Given the description of an element on the screen output the (x, y) to click on. 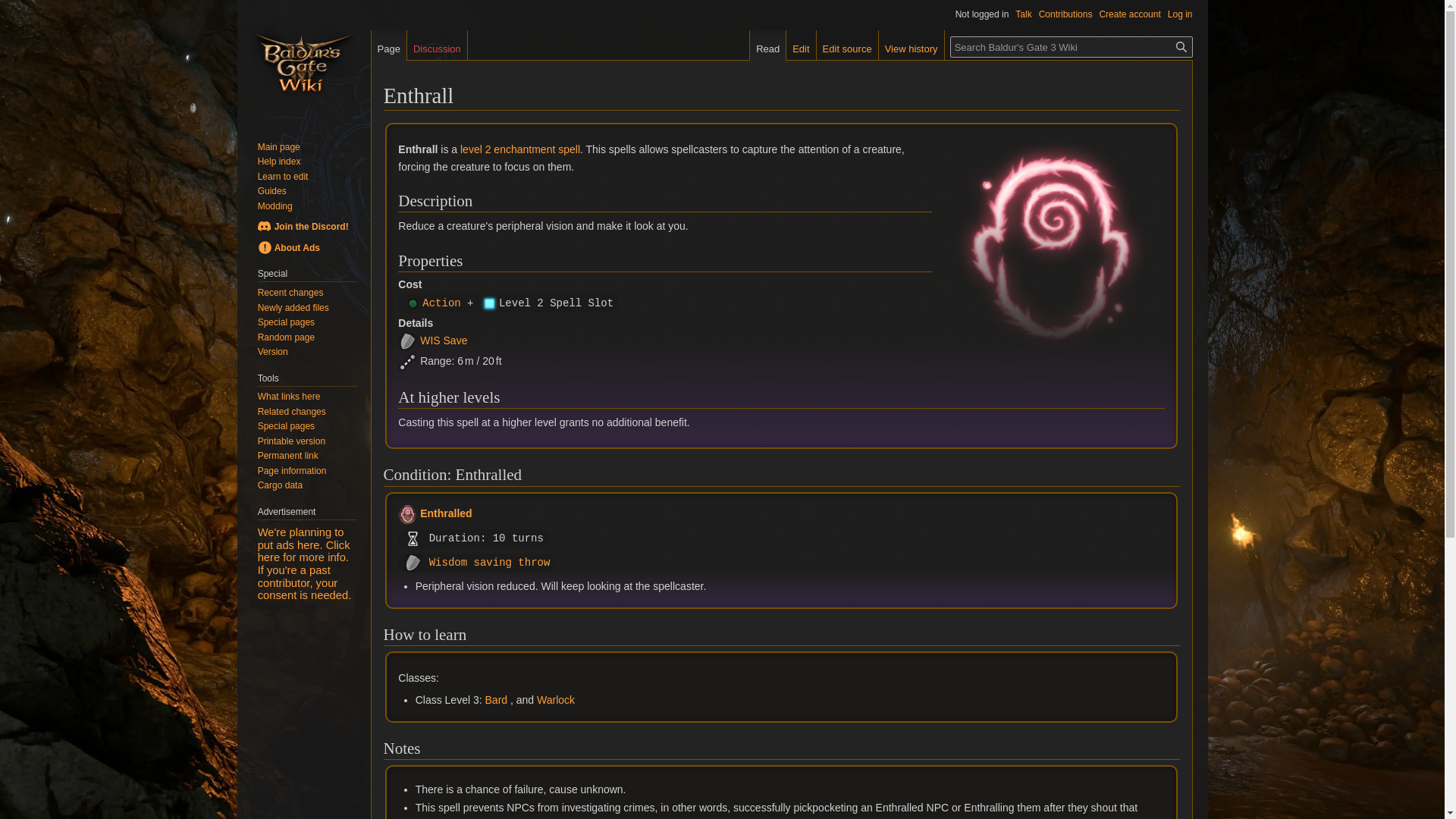
Enthralled (445, 512)
Warlock (556, 699)
level 2 enchantment spell (519, 149)
Wisdom (429, 340)
Saving throws (455, 340)
Warlock (556, 699)
Action (441, 303)
Discussion (436, 45)
Action (441, 303)
Bard (496, 699)
WIS (429, 340)
View history (910, 45)
Spells (519, 149)
Edit source (847, 45)
